Given the description of an element on the screen output the (x, y) to click on. 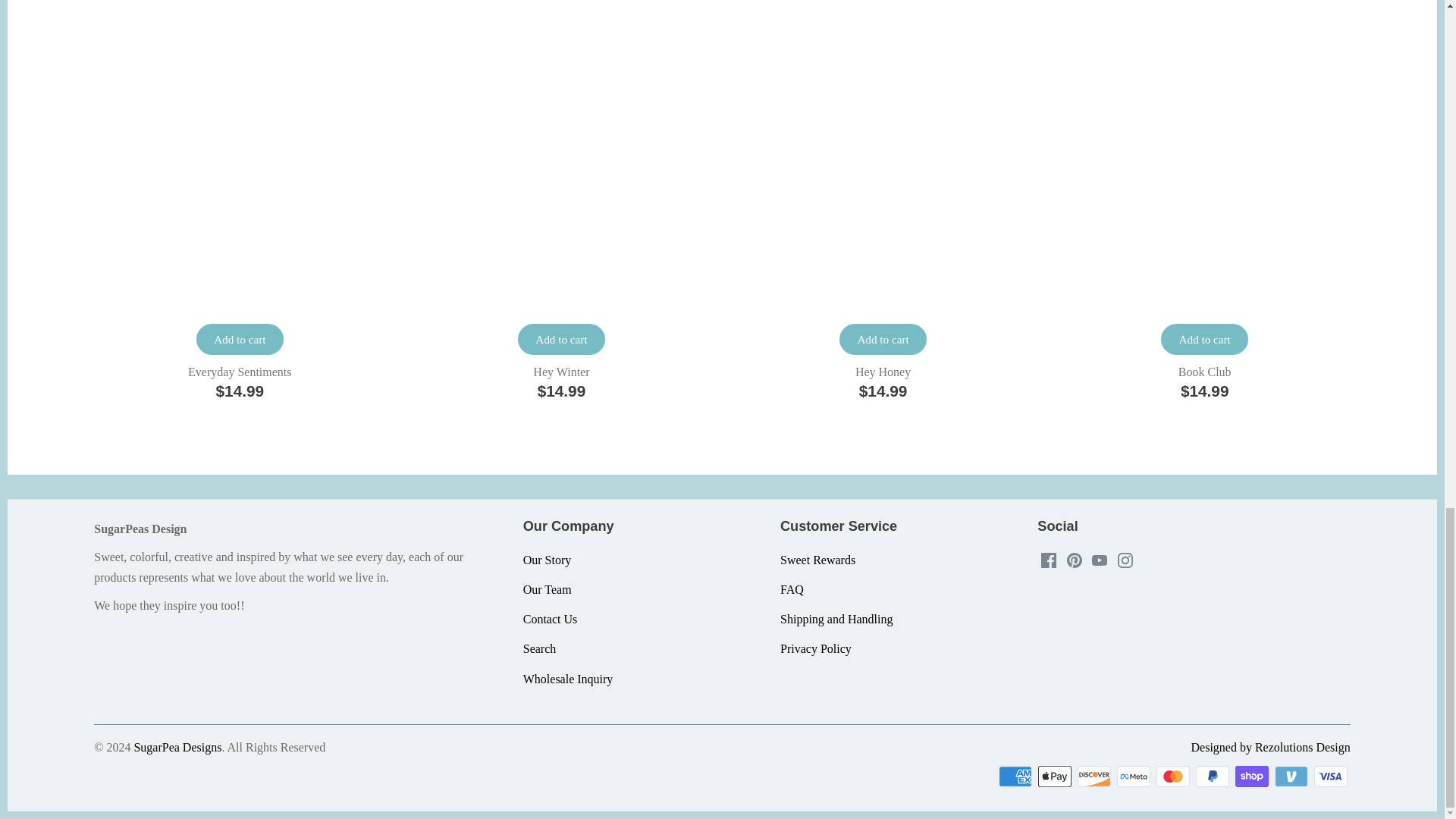
Pinterest (1074, 560)
Instagram (1125, 560)
Facebook (1049, 560)
Youtube (1099, 560)
